Given the description of an element on the screen output the (x, y) to click on. 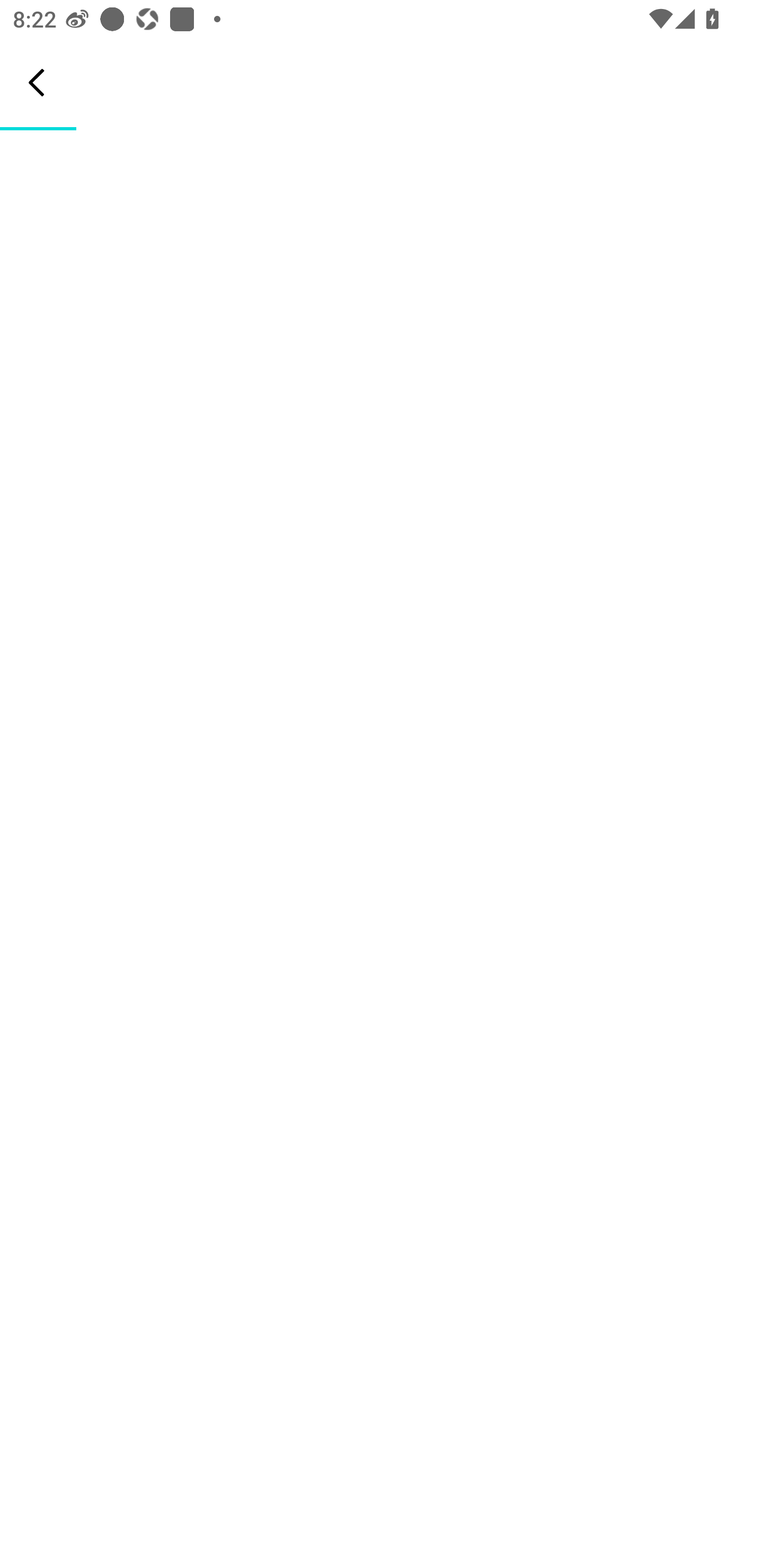
Navigate up (36, 82)
